Given the description of an element on the screen output the (x, y) to click on. 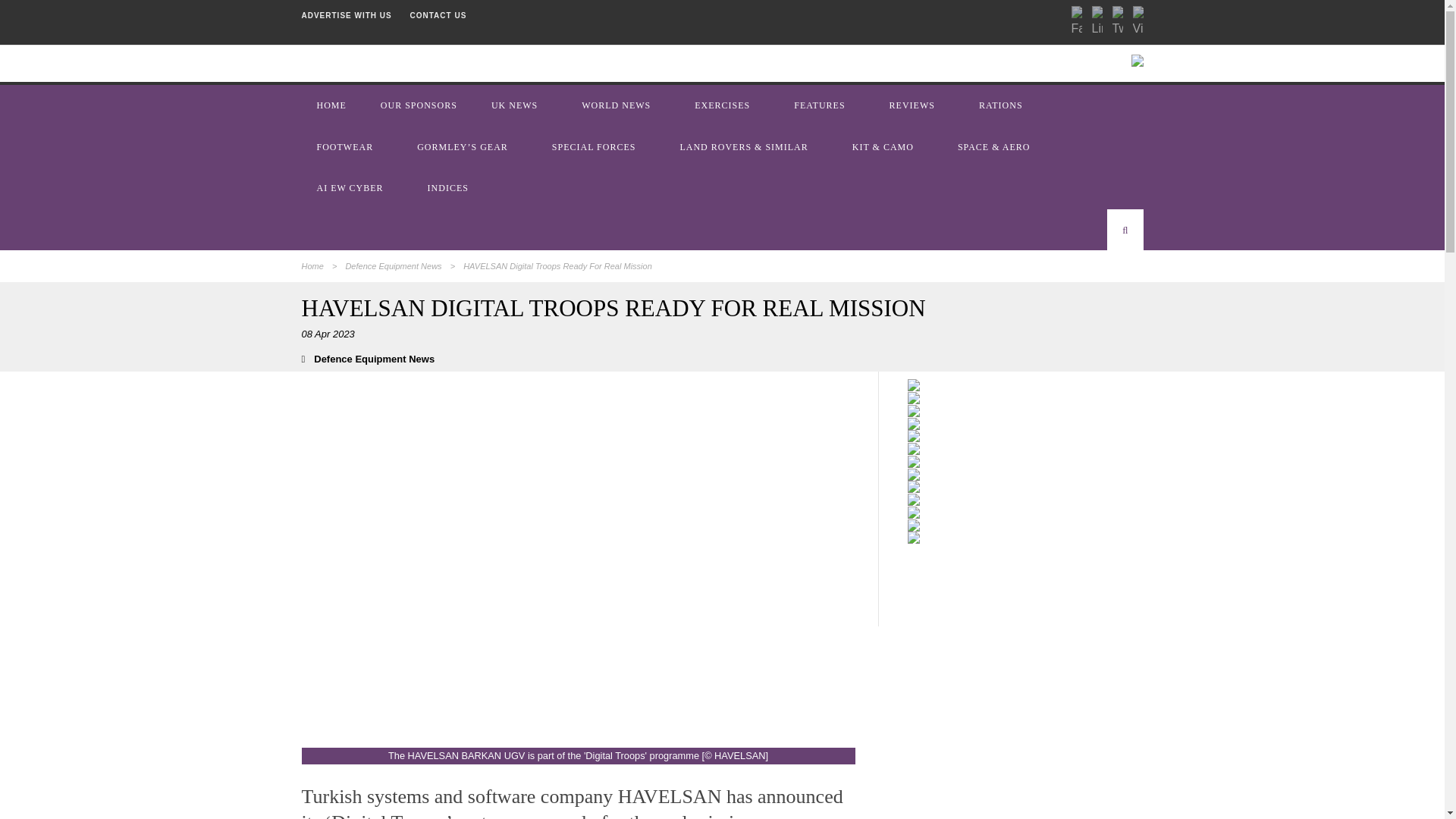
CONTACT US (438, 15)
HOME (333, 105)
ADVERTISE WITH US (346, 15)
